Given the description of an element on the screen output the (x, y) to click on. 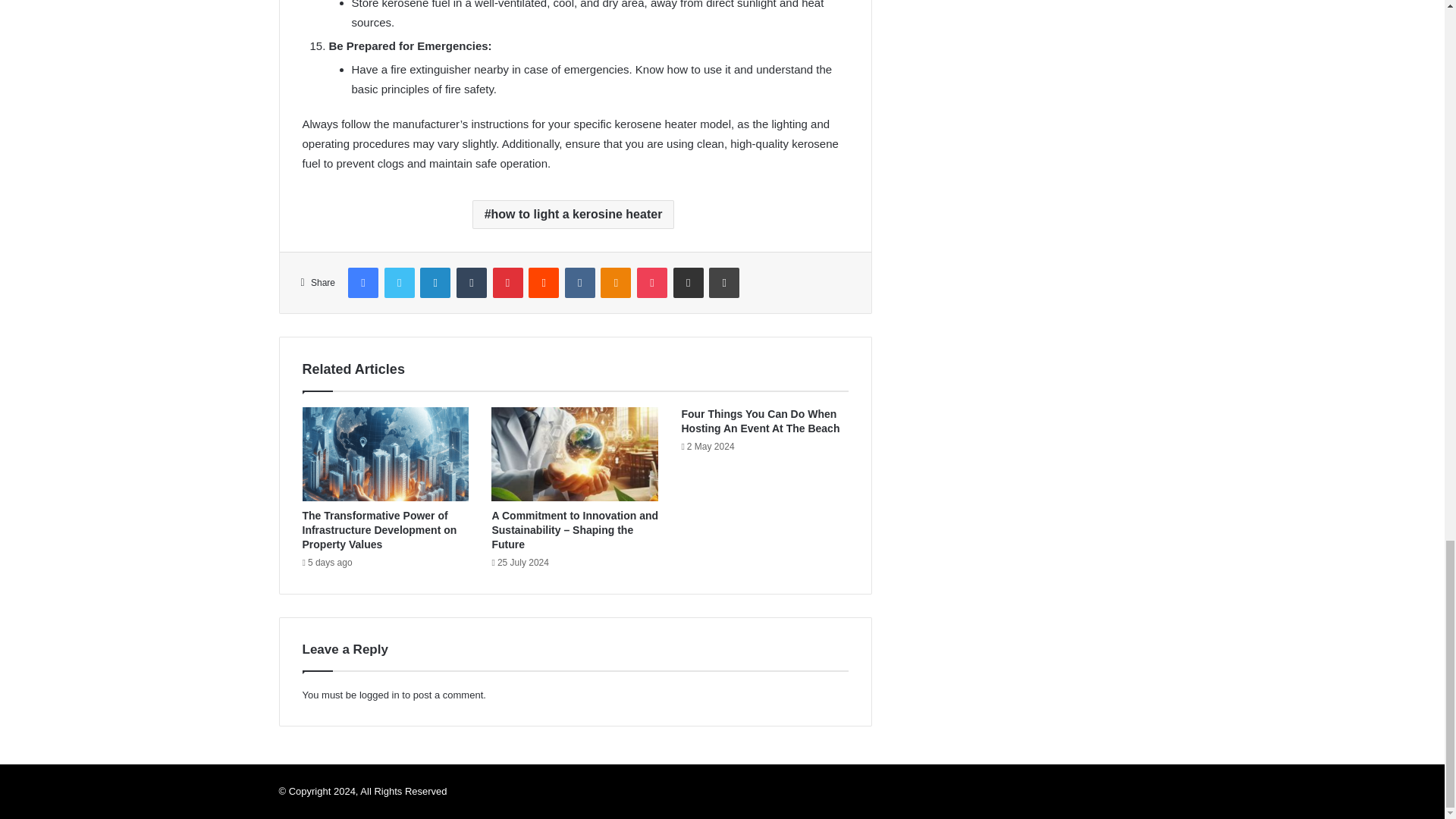
how to light a kerosine heater (573, 214)
LinkedIn (434, 282)
Facebook (362, 282)
Twitter (399, 282)
